Given the description of an element on the screen output the (x, y) to click on. 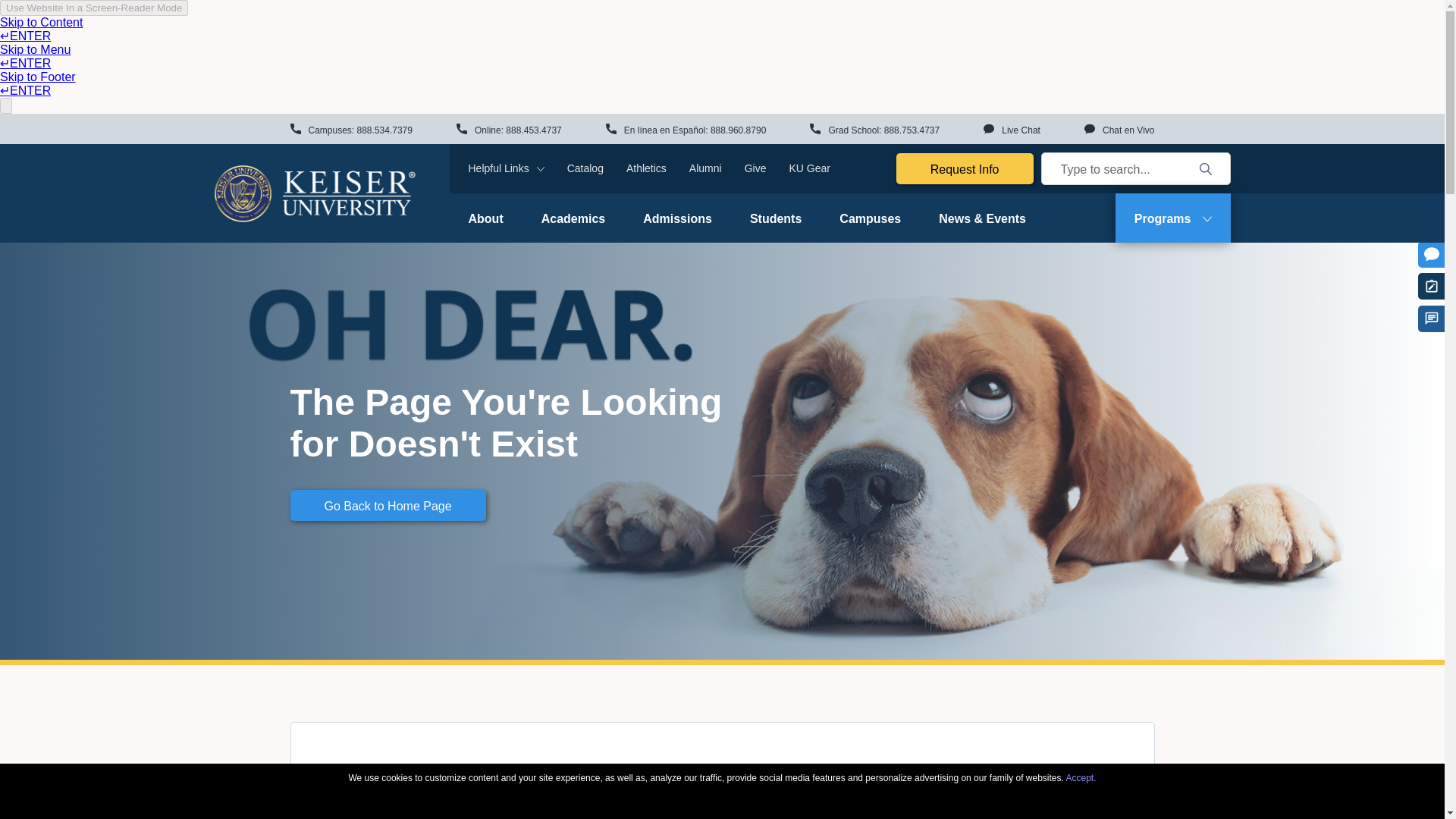
Live Chat (1012, 129)
Campuses: 888.534.7379 (350, 129)
Catalog (585, 168)
Request Info (964, 168)
Grad School: 888.753.4737 (874, 129)
Campuses: 888.534.7379 (350, 129)
Chat en Vivo (1119, 129)
Chat en Vivo (1119, 129)
Helpful Links (506, 169)
KU Gear (809, 168)
